Given the description of an element on the screen output the (x, y) to click on. 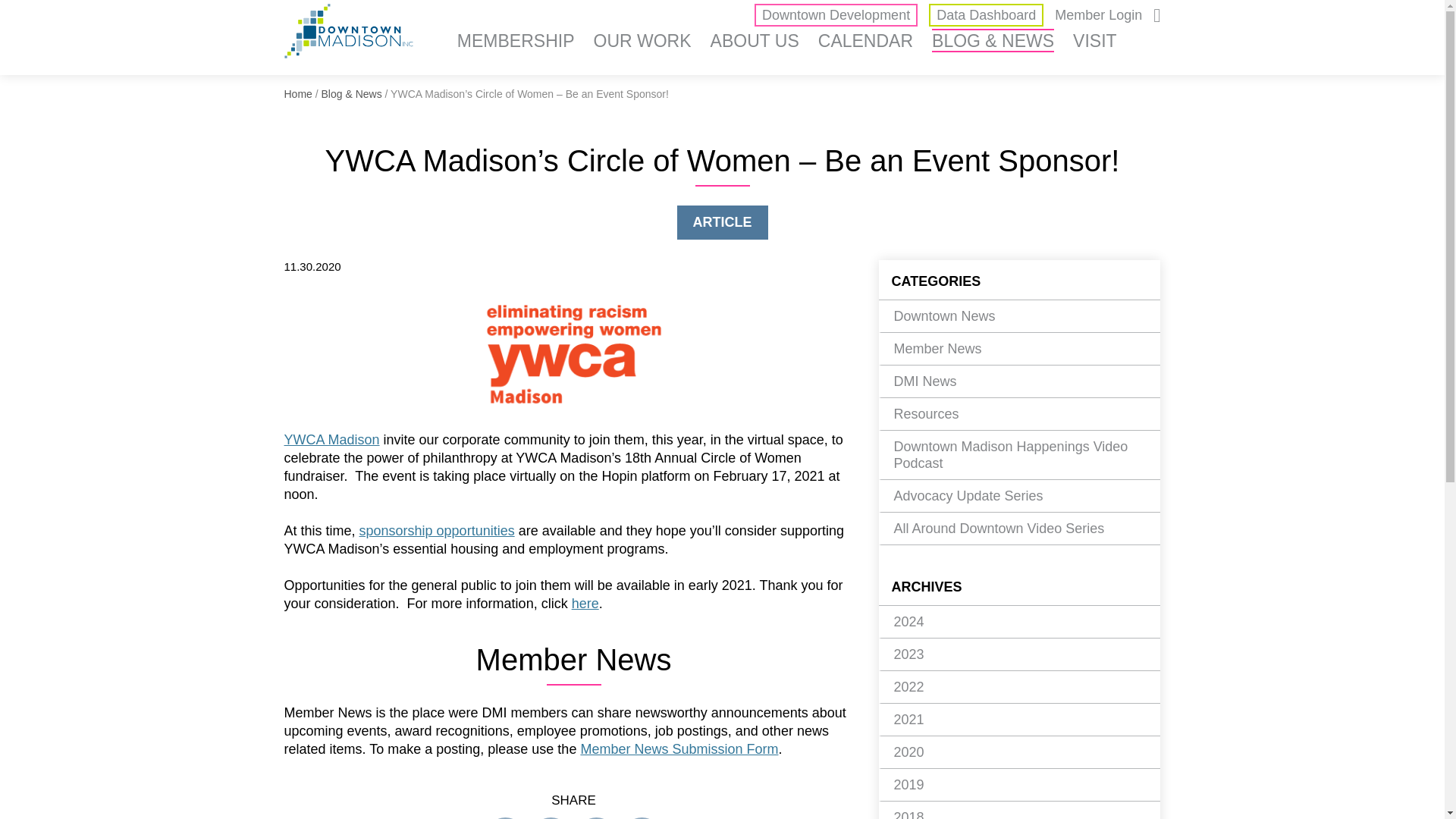
Data Dashboard (985, 15)
MEMBERSHIP (516, 40)
VISIT (1094, 40)
Go to Homepage (348, 34)
Member Login (1097, 15)
Downtown Development (835, 15)
OUR WORK (642, 40)
ABOUT US (754, 40)
CALENDAR (865, 40)
